Given the description of an element on the screen output the (x, y) to click on. 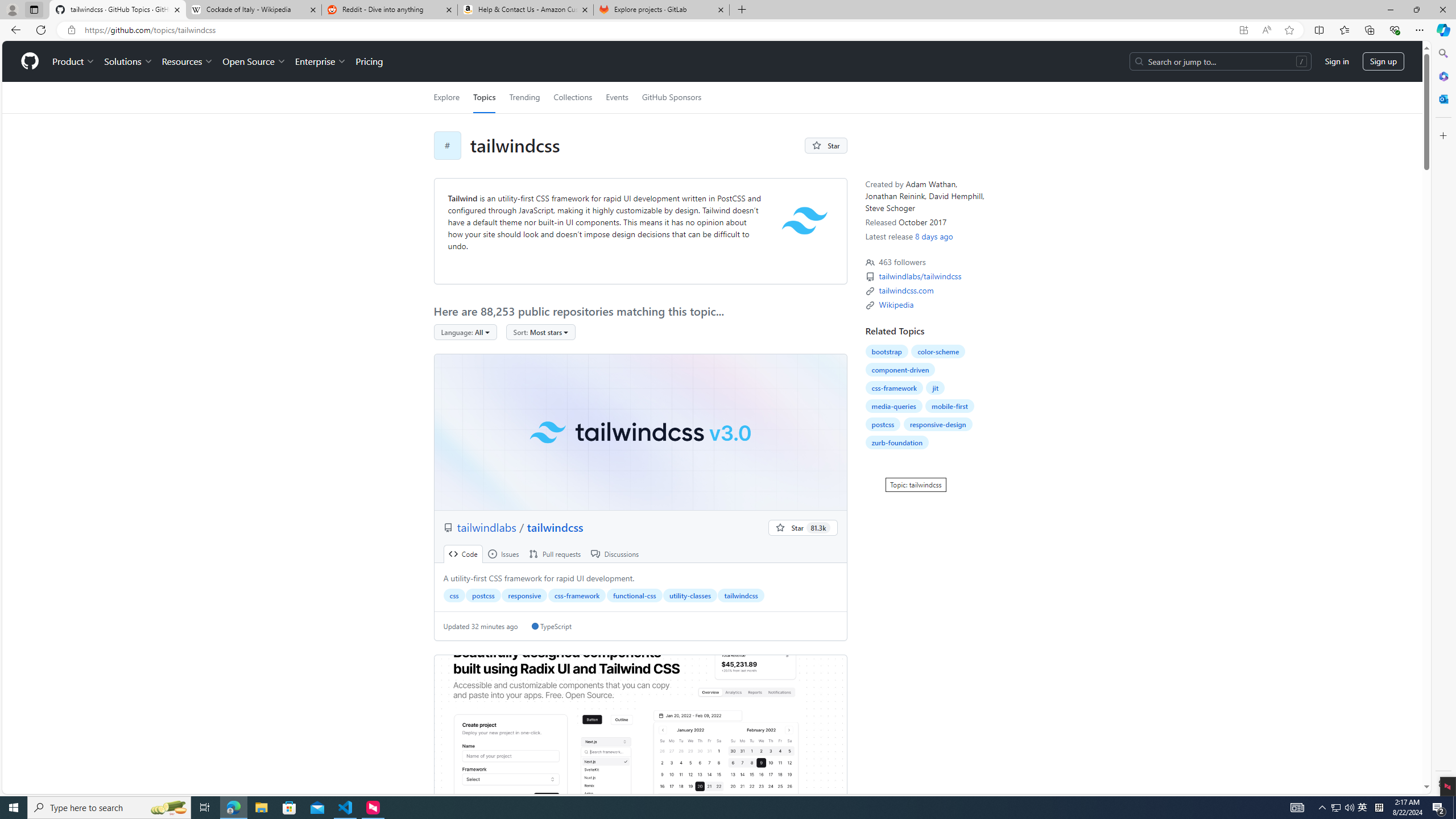
tailwind logo (804, 220)
tailwindlabs  (488, 526)
Explore (446, 97)
TypeScript (551, 625)
Solutions (128, 60)
tailwindcss.com (906, 290)
component-driven (900, 369)
Pricing (368, 60)
